Given the description of an element on the screen output the (x, y) to click on. 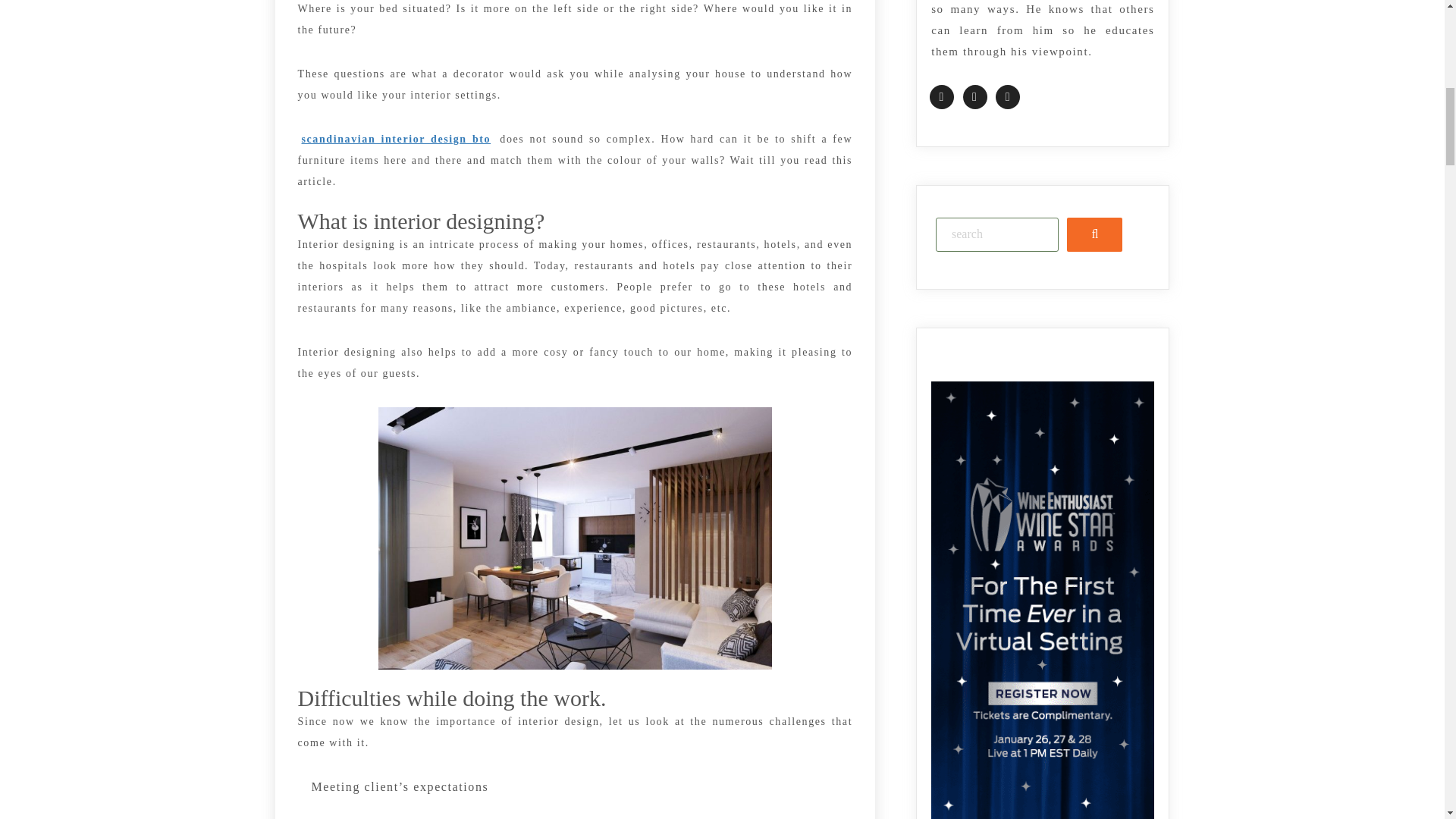
Search (1094, 234)
scandinavian interior design bto (396, 138)
